Given the description of an element on the screen output the (x, y) to click on. 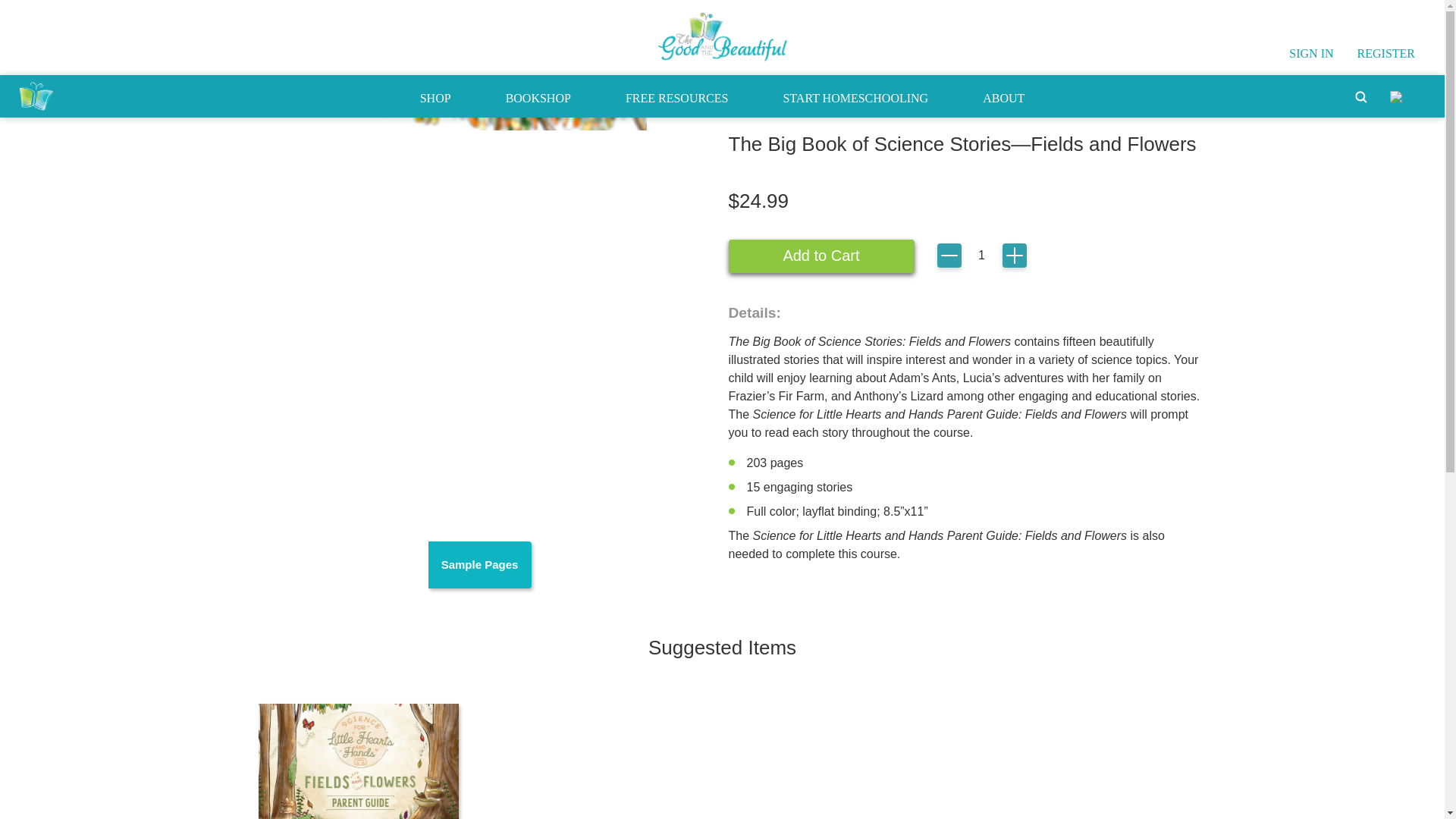
The Good and the Beautiful (36, 95)
View your shopping cart (1398, 95)
SHOP (436, 96)
SIGN IN (1310, 52)
1 (982, 255)
REGISTER (1385, 52)
The Good and the Beautiful (721, 35)
BOOKSHOP (538, 96)
